Given the description of an element on the screen output the (x, y) to click on. 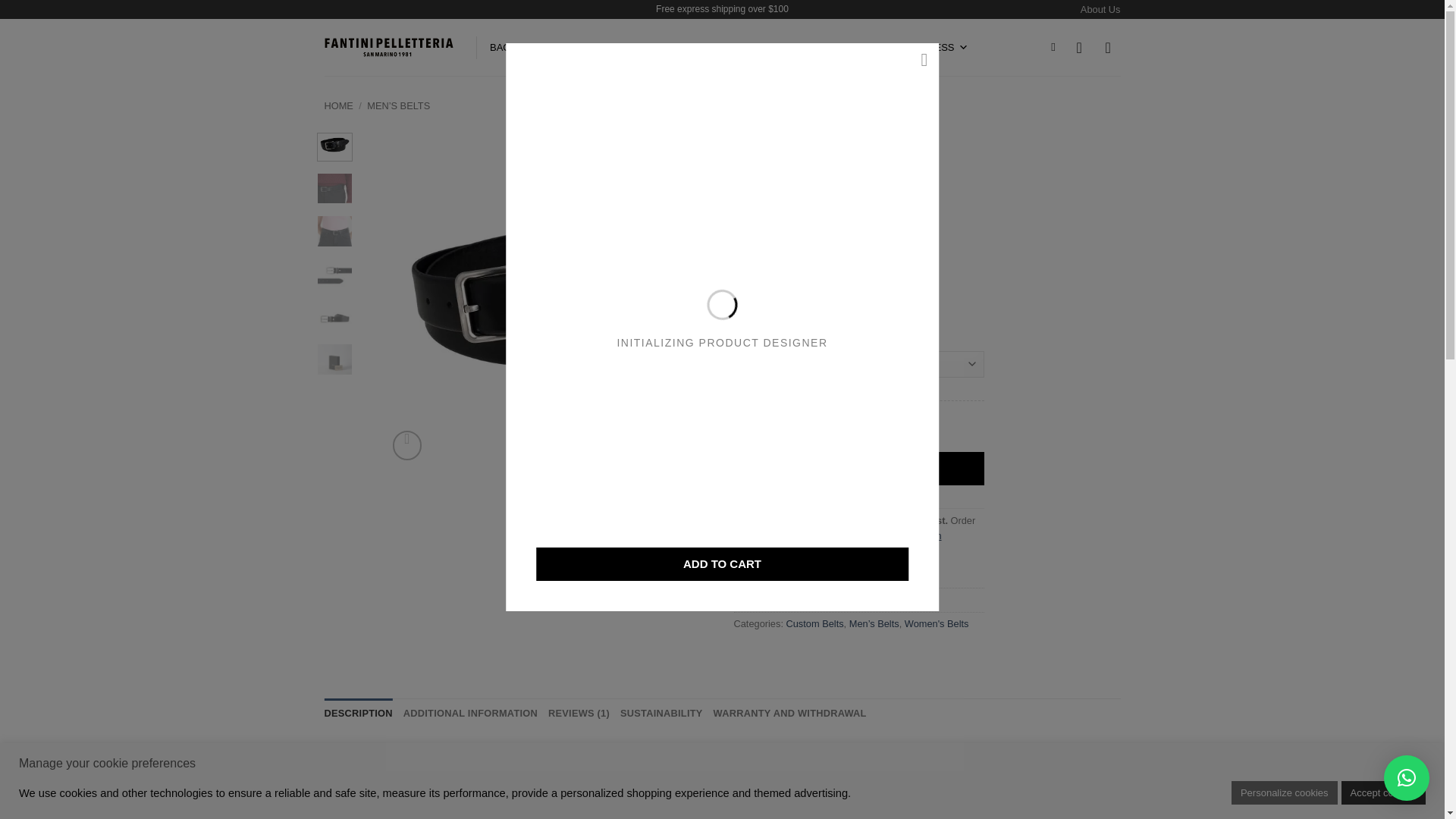
BUSINESS (936, 46)
About Us (1100, 9)
Fantini Pelletteria - Fantini Pelletteria (388, 46)
ACCESSORIES (758, 46)
Leather Belt (551, 299)
Zoom (407, 445)
Fantini Pelletteria box (216, 299)
BACKPACKS (585, 46)
LUGGAGES (852, 46)
BAGS (509, 46)
WALLETS (668, 46)
